Given the description of an element on the screen output the (x, y) to click on. 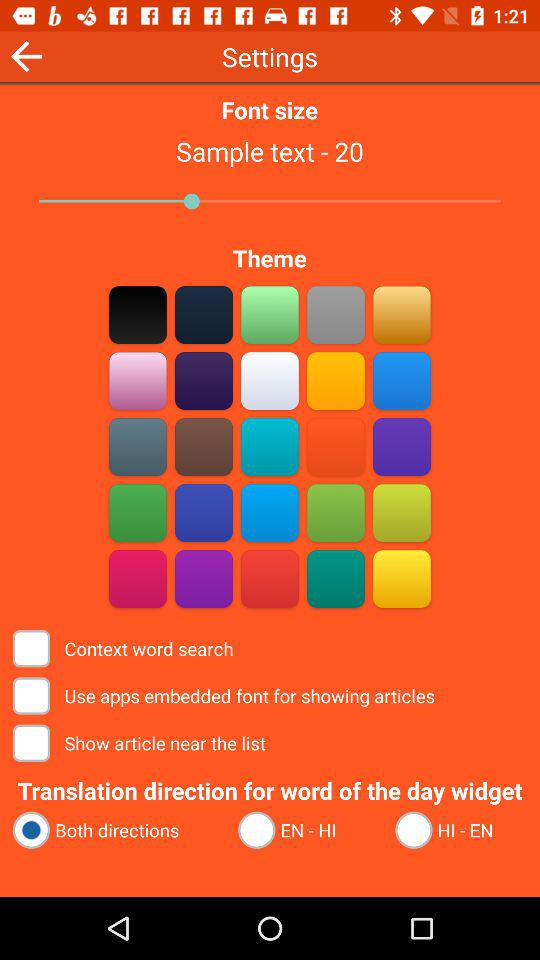
change theme color to purple (401, 446)
